Given the description of an element on the screen output the (x, y) to click on. 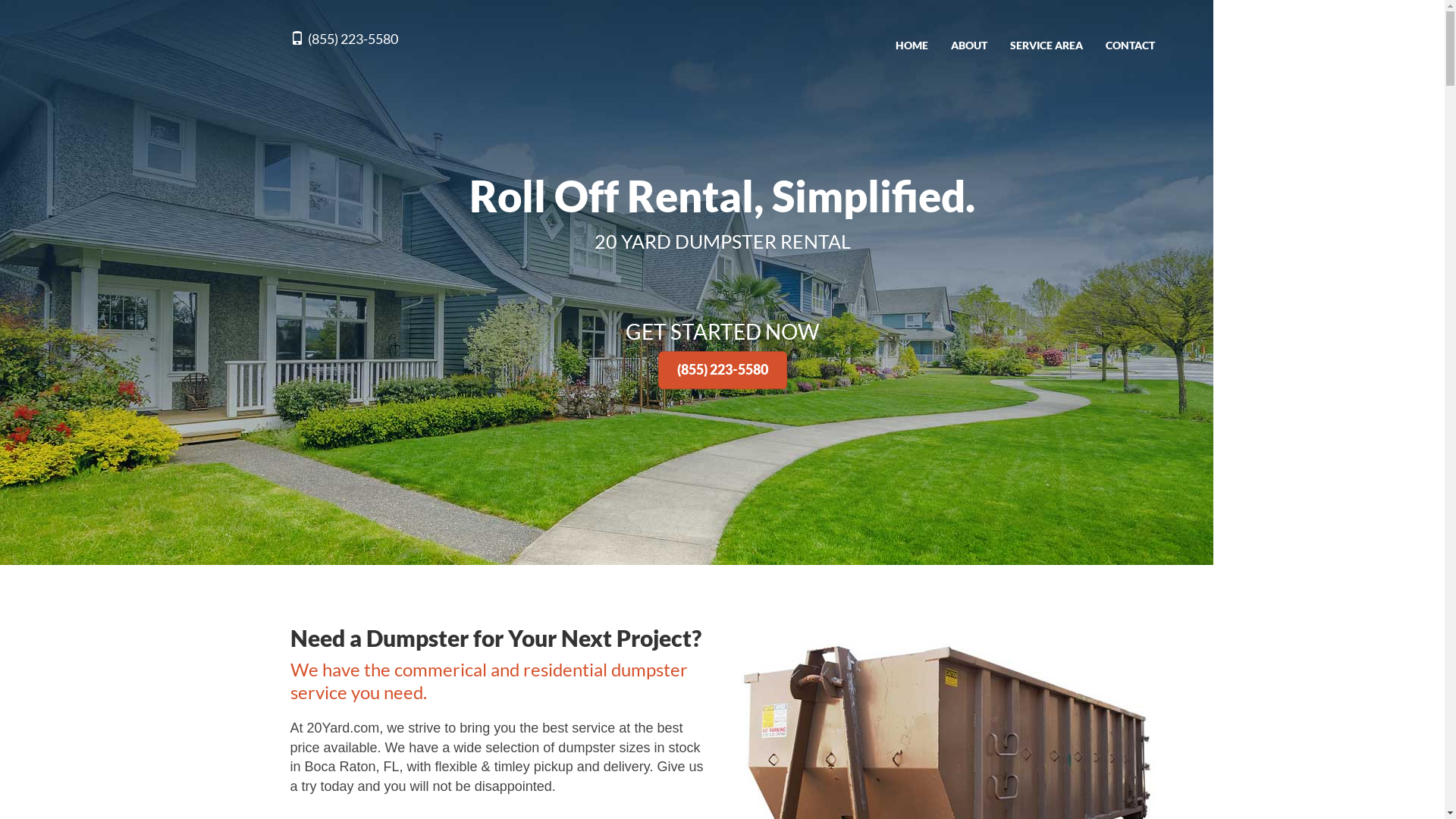
(855) 223-5580 Element type: text (344, 41)
(855) 223-5580 Element type: text (722, 370)
HOME Element type: text (911, 45)
ABOUT Element type: text (967, 45)
CONTACT Element type: text (1129, 45)
SERVICE AREA Element type: text (1045, 45)
